Given the description of an element on the screen output the (x, y) to click on. 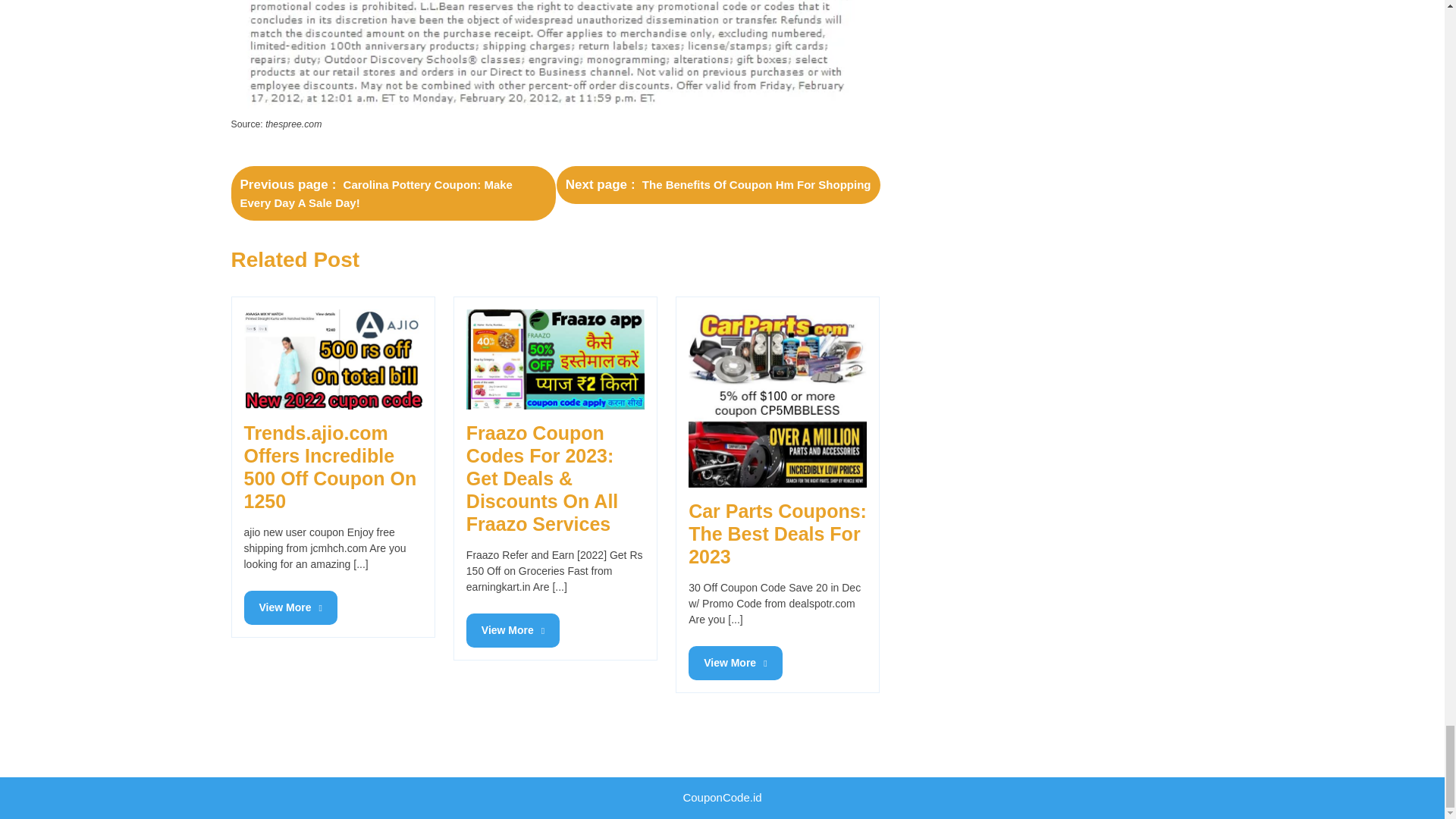
View More (512, 630)
Car Parts Coupons: The Best Deals For 2023 (718, 184)
Trends.ajio.com Offers Incredible 500 Off Coupon On 1250 (777, 398)
View More (333, 359)
View More (290, 607)
